Given the description of an element on the screen output the (x, y) to click on. 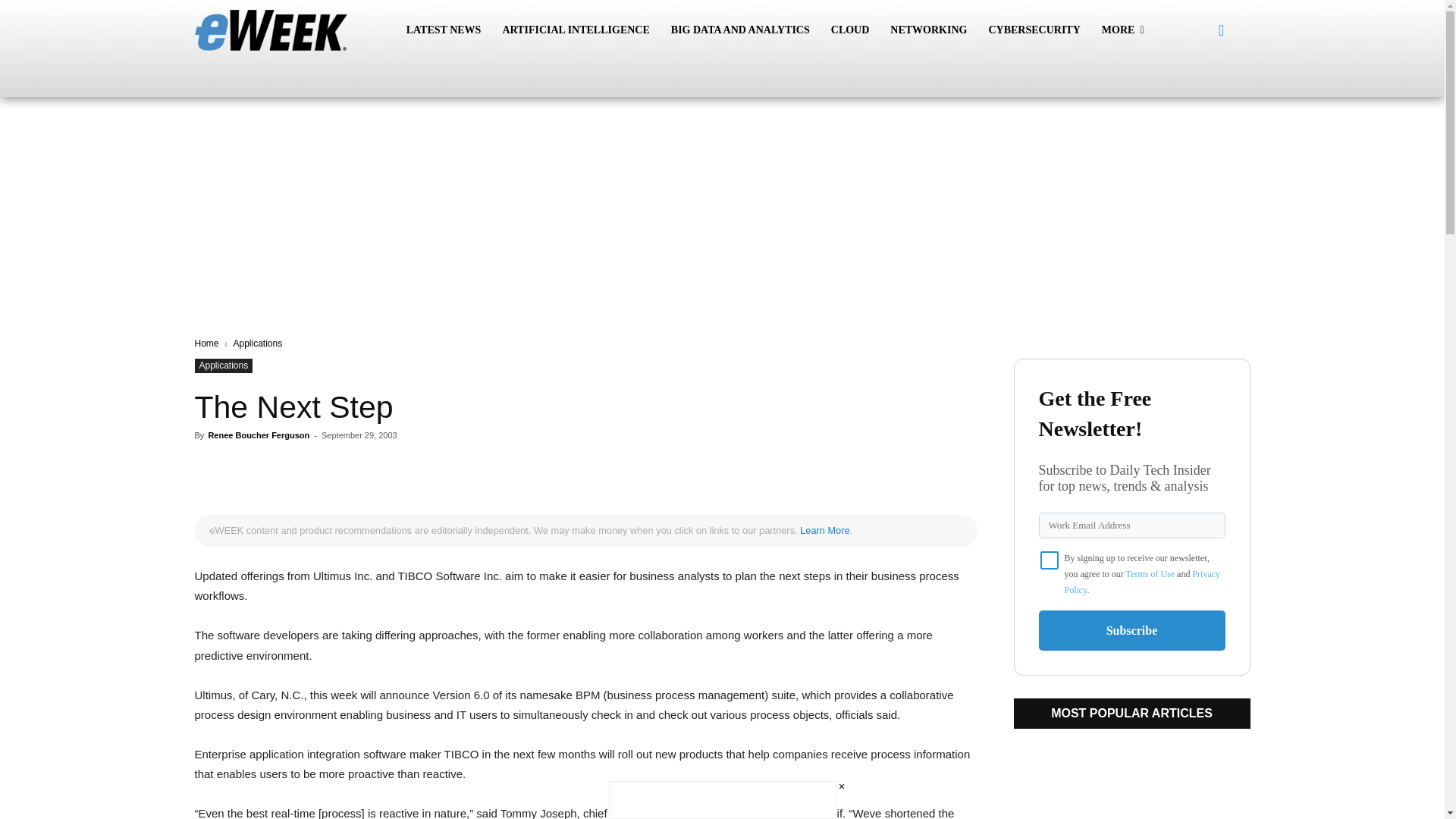
CLOUD (850, 30)
CYBERSECURITY (1033, 30)
BIG DATA AND ANALYTICS (741, 30)
ARTIFICIAL INTELLIGENCE (575, 30)
NETWORKING (927, 30)
LATEST NEWS (444, 30)
on (1049, 560)
